Given the description of an element on the screen output the (x, y) to click on. 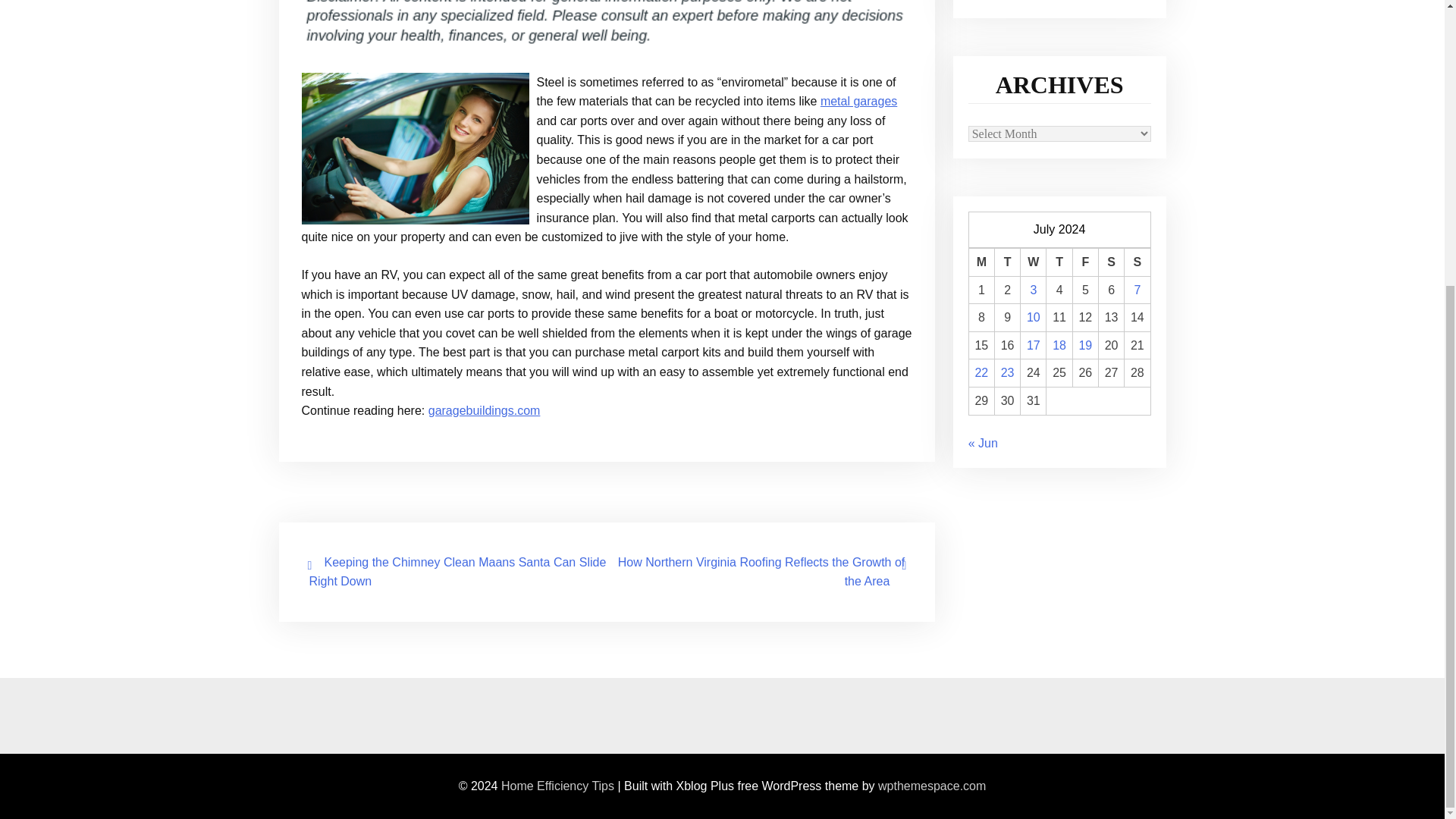
Monday (981, 262)
23 (1007, 372)
18 (1058, 345)
garagebuildings.com (484, 410)
22 (981, 372)
7 (1137, 289)
10 (1033, 317)
Sunday (1137, 262)
Information related to Metal carports (484, 410)
metal garages (858, 101)
Keeping the Chimney Clean Maans Santa Can Slide Right Down (457, 572)
Garage buildings (858, 101)
3 (1032, 289)
19 (1085, 345)
